Given the description of an element on the screen output the (x, y) to click on. 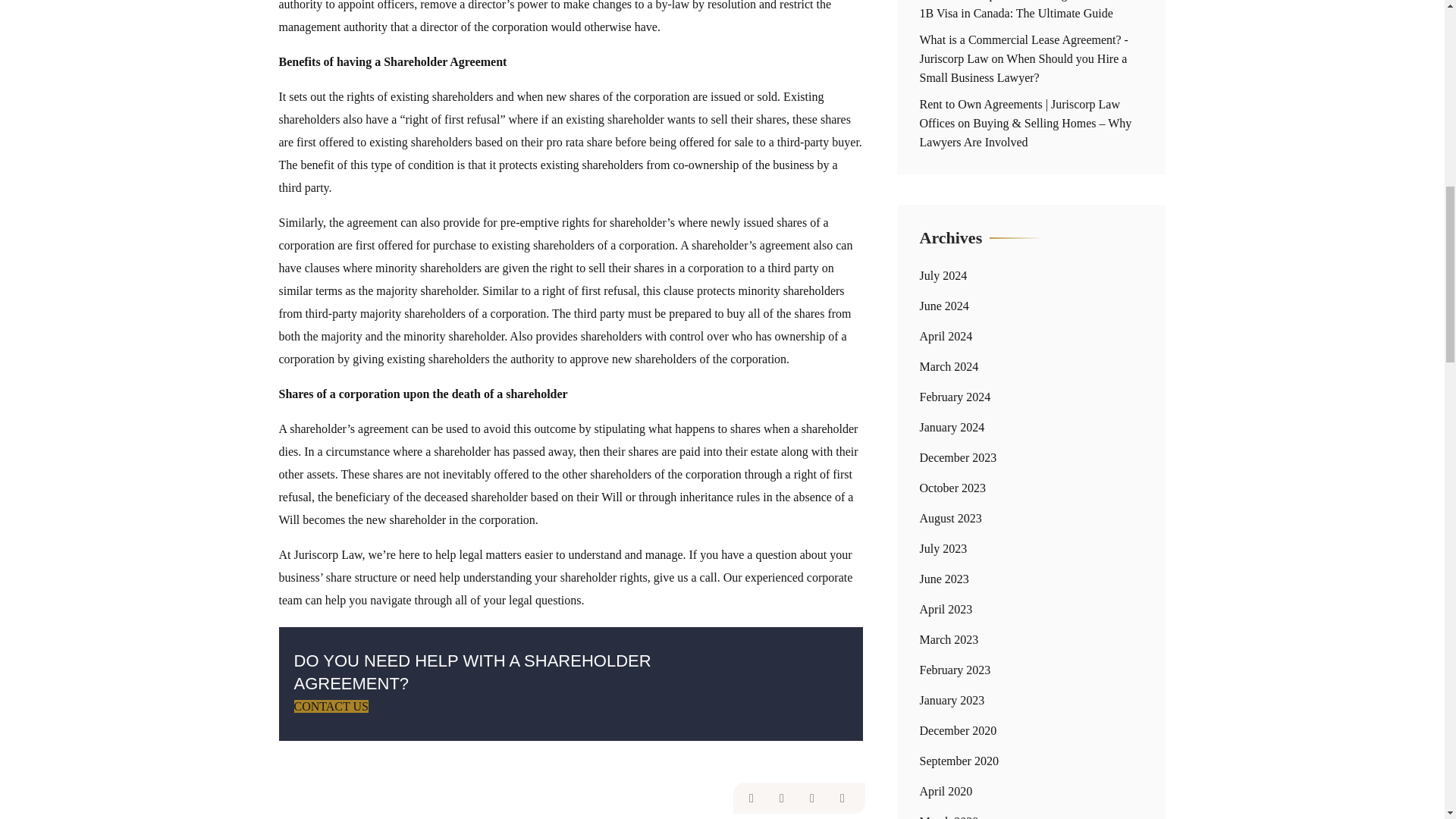
CONTACT US (331, 706)
Click to send this page to Twitter! (781, 797)
